Given the description of an element on the screen output the (x, y) to click on. 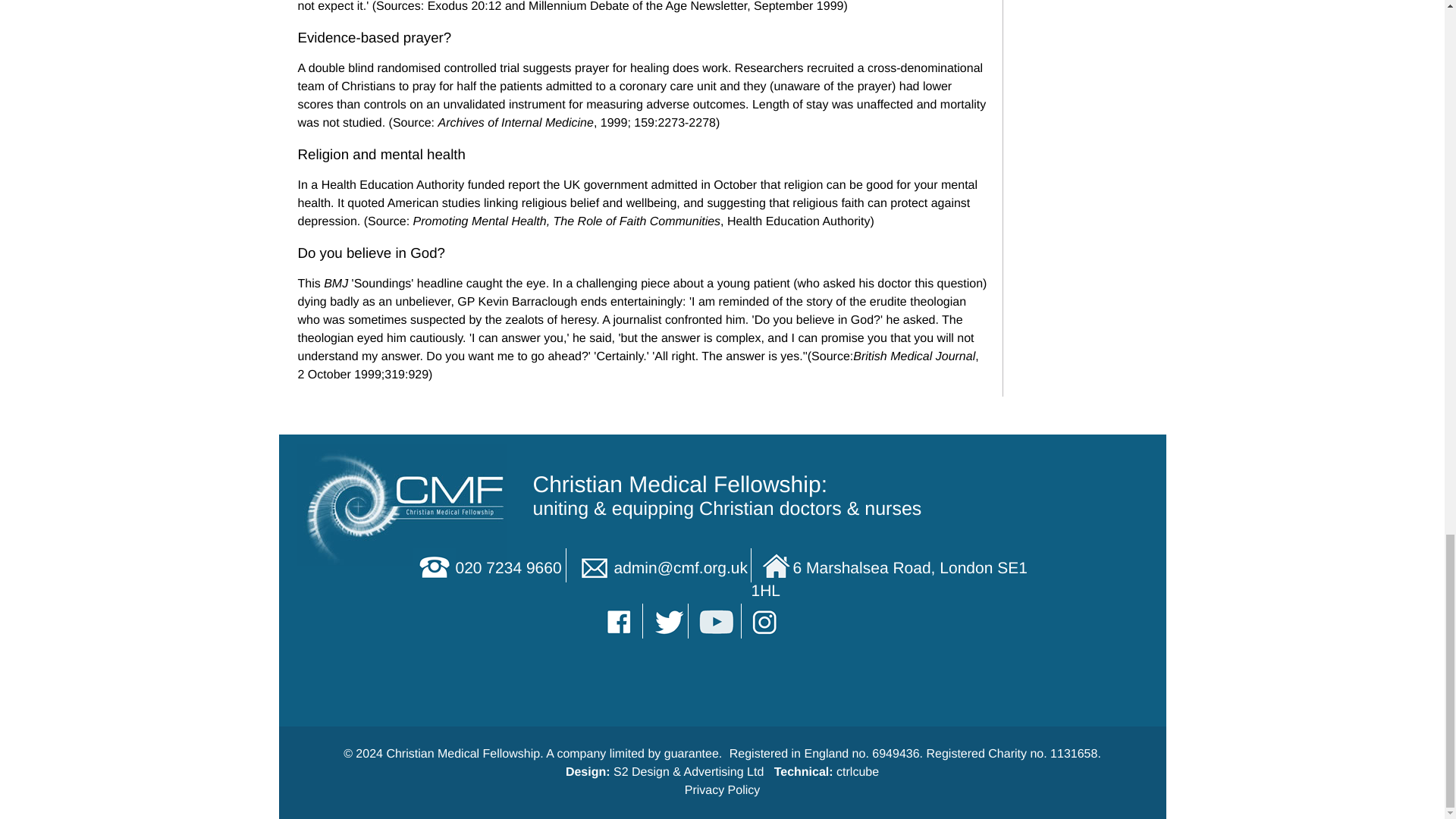
CMF on Instagram (766, 620)
CMF on Facebook (620, 620)
CMF on Twitter (666, 620)
CMF on YouTube (717, 620)
